Given the description of an element on the screen output the (x, y) to click on. 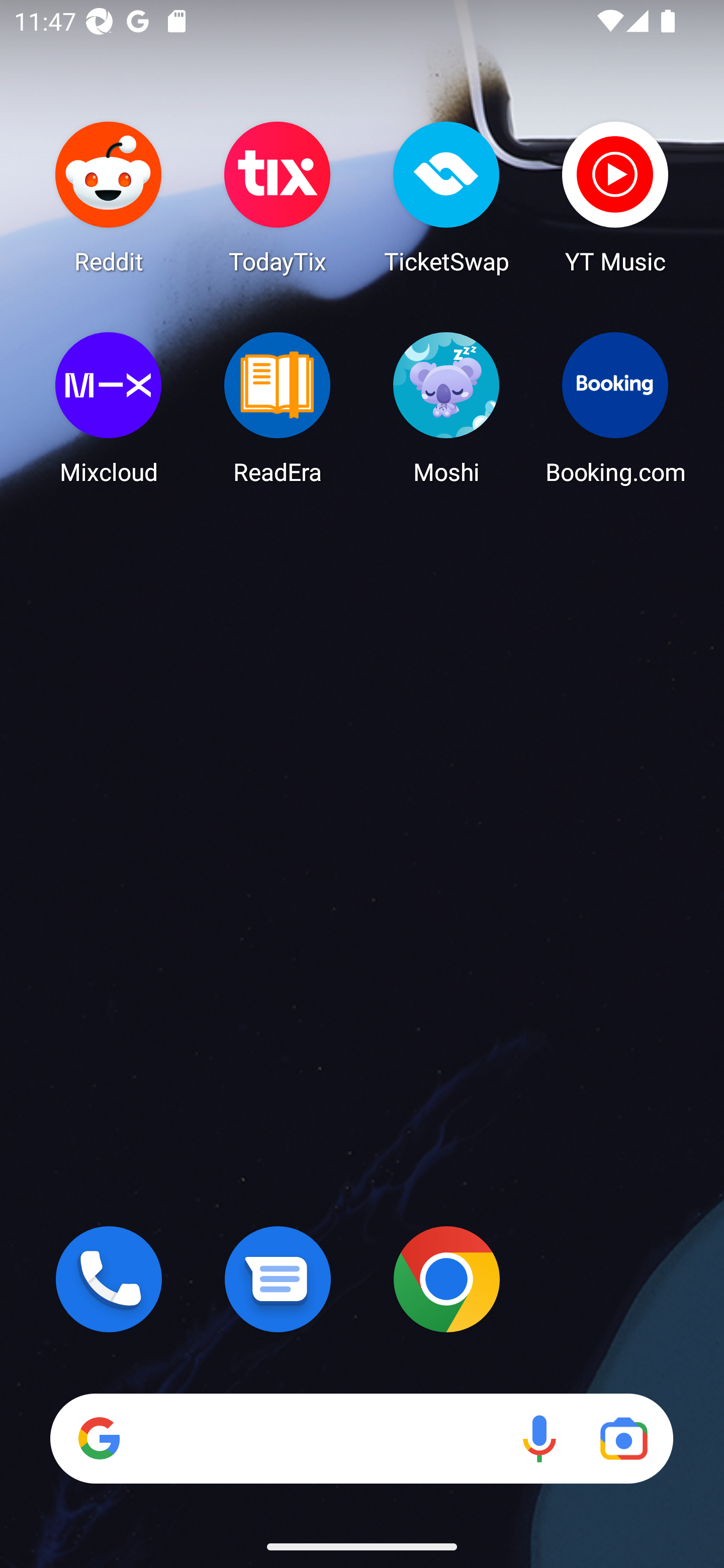
Reddit (108, 196)
TodayTix (277, 196)
TicketSwap (445, 196)
YT Music (615, 196)
Mixcloud (108, 407)
ReadEra (277, 407)
Moshi (445, 407)
Booking.com (615, 407)
Phone (108, 1279)
Messages (277, 1279)
Chrome (446, 1279)
Search Voice search Google Lens (361, 1438)
Voice search (539, 1438)
Google Lens (623, 1438)
